Given the description of an element on the screen output the (x, y) to click on. 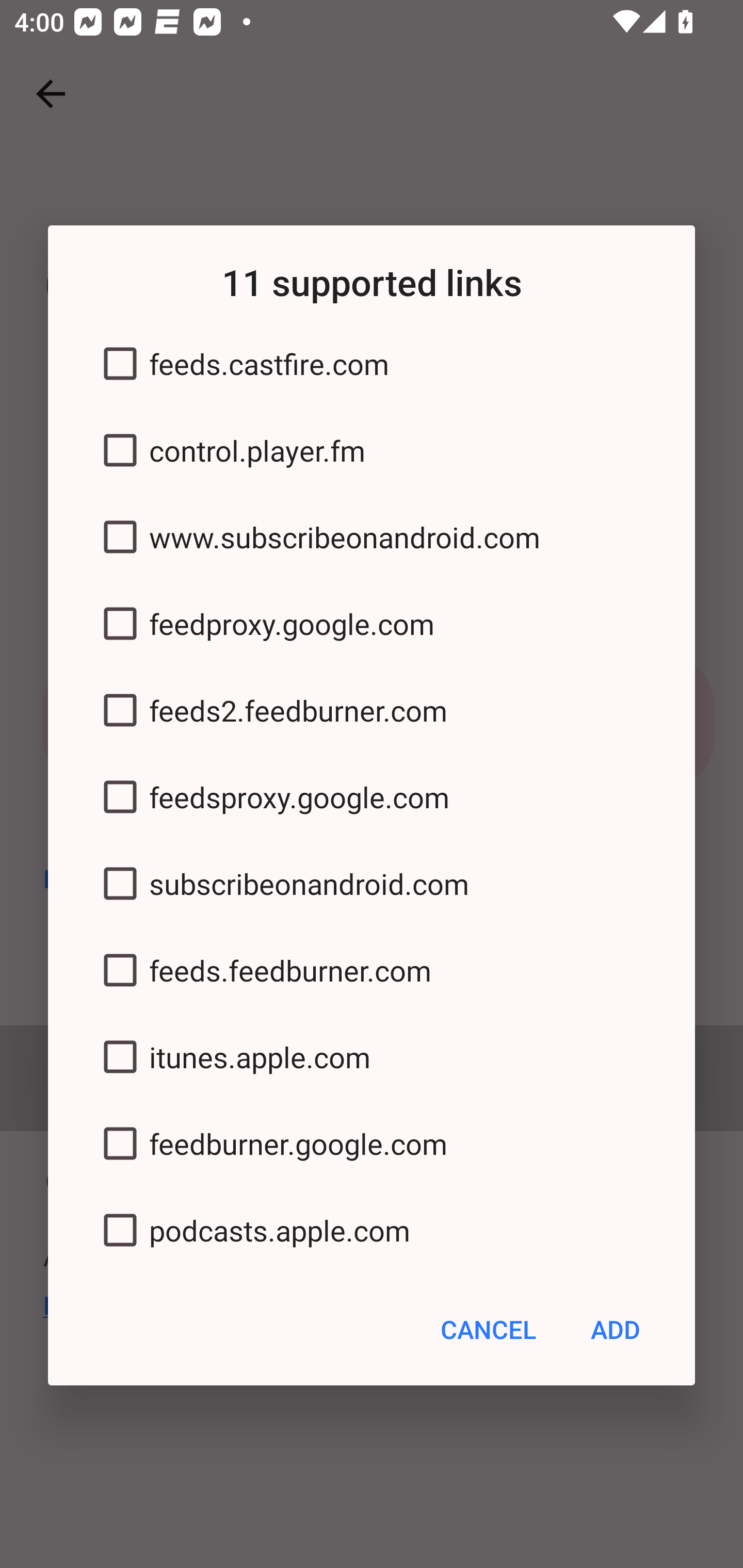
feeds.castfire.com (371, 363)
control.player.fm (371, 450)
www.subscribeonandroid.com (371, 536)
feedproxy.google.com (371, 623)
feeds2.feedburner.com (371, 710)
feedsproxy.google.com (371, 797)
subscribeonandroid.com (371, 883)
feeds.feedburner.com (371, 969)
itunes.apple.com (371, 1056)
feedburner.google.com (371, 1143)
podcasts.apple.com (371, 1229)
CANCEL (488, 1329)
ADD (615, 1329)
